Given the description of an element on the screen output the (x, y) to click on. 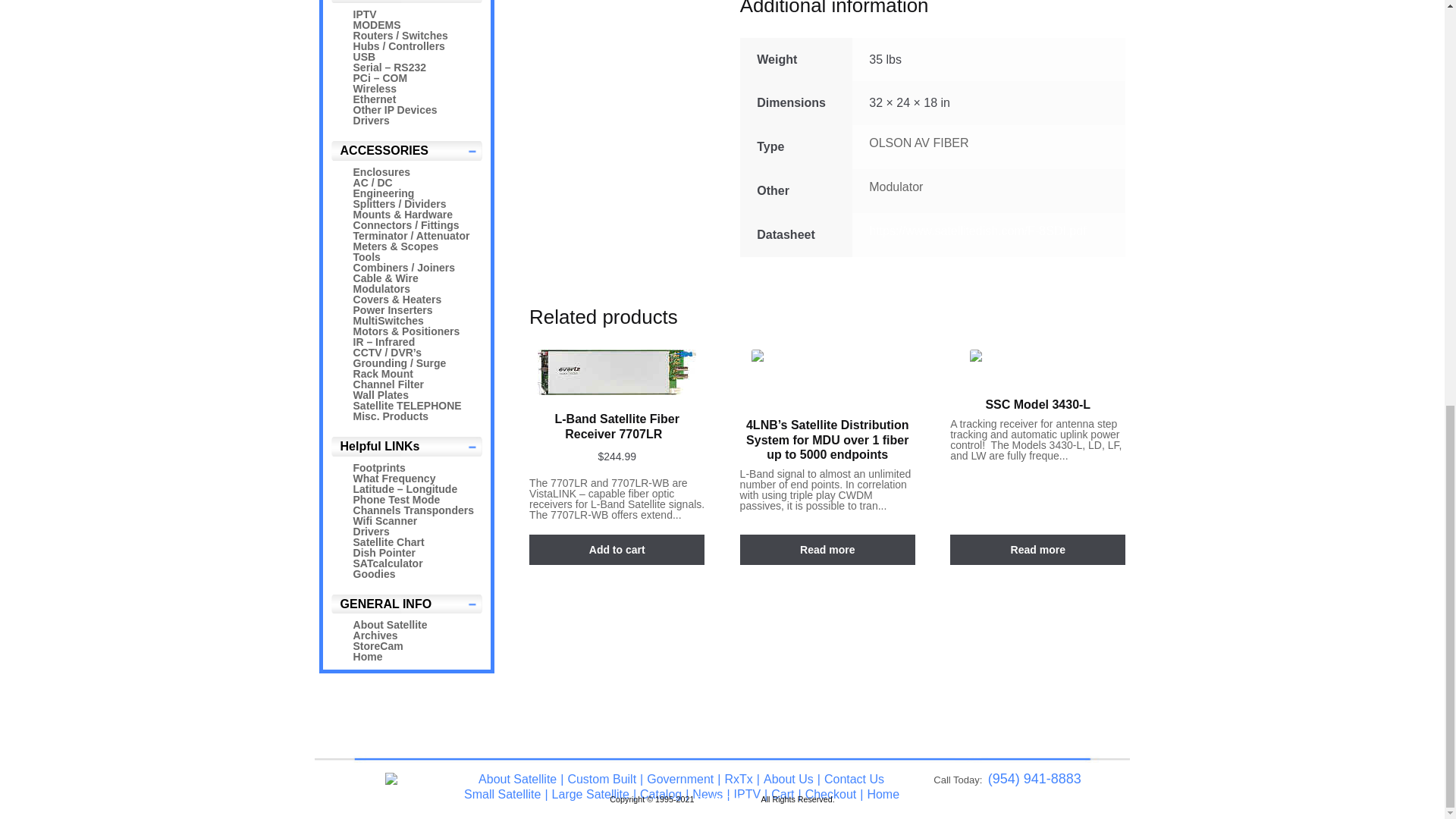
satellite parts (407, 782)
